Given the description of an element on the screen output the (x, y) to click on. 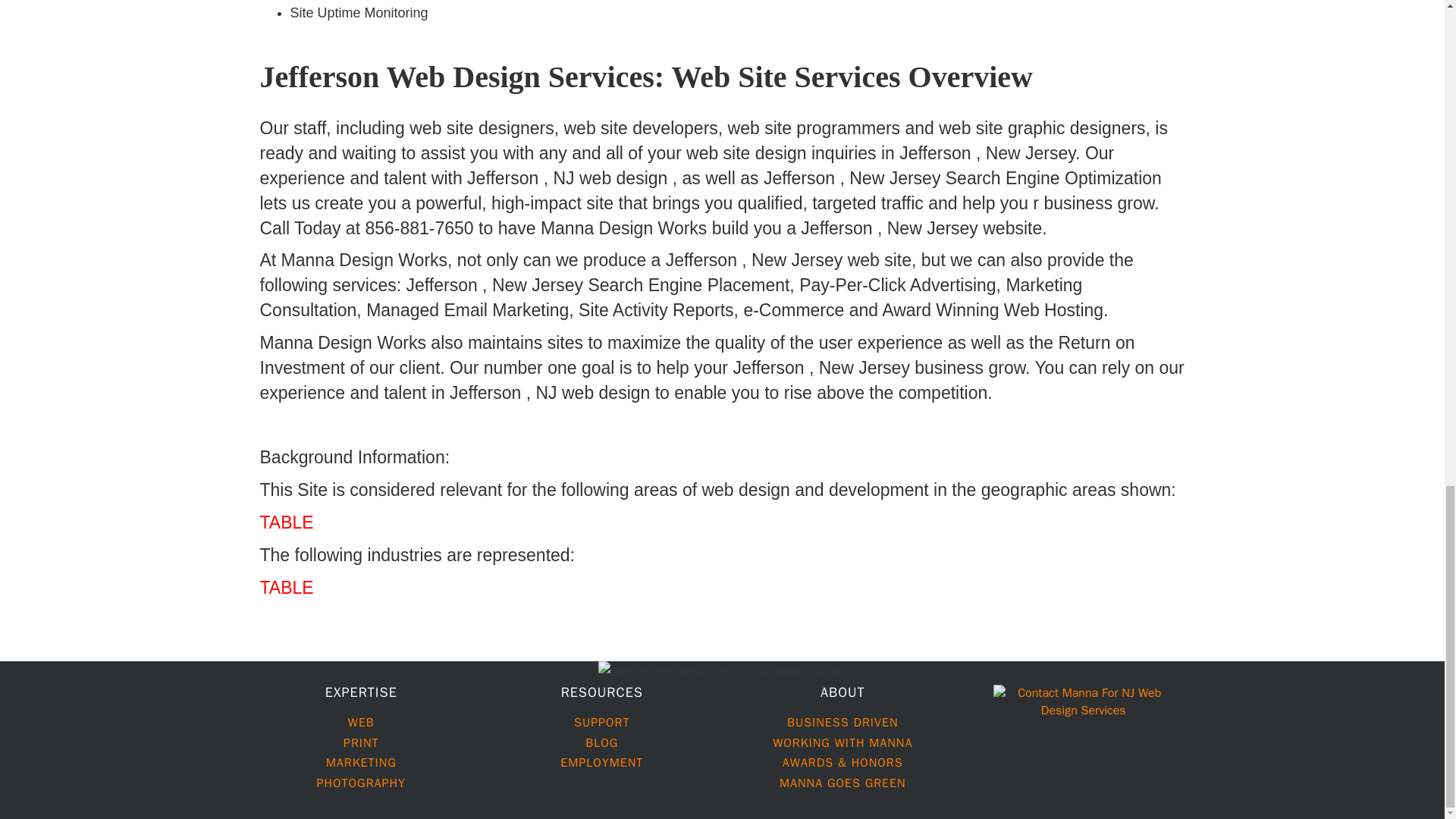
PRINT (360, 743)
BUSINESS DRIVEN (842, 722)
PHOTOGRAPHY (361, 783)
EMPLOYMENT (601, 762)
WORKING WITH MANNA (842, 743)
MARKETING (361, 762)
SUPPORT (601, 722)
BLOG (601, 743)
MANNA GOES GREEN (841, 783)
WEB (360, 722)
